Given the description of an element on the screen output the (x, y) to click on. 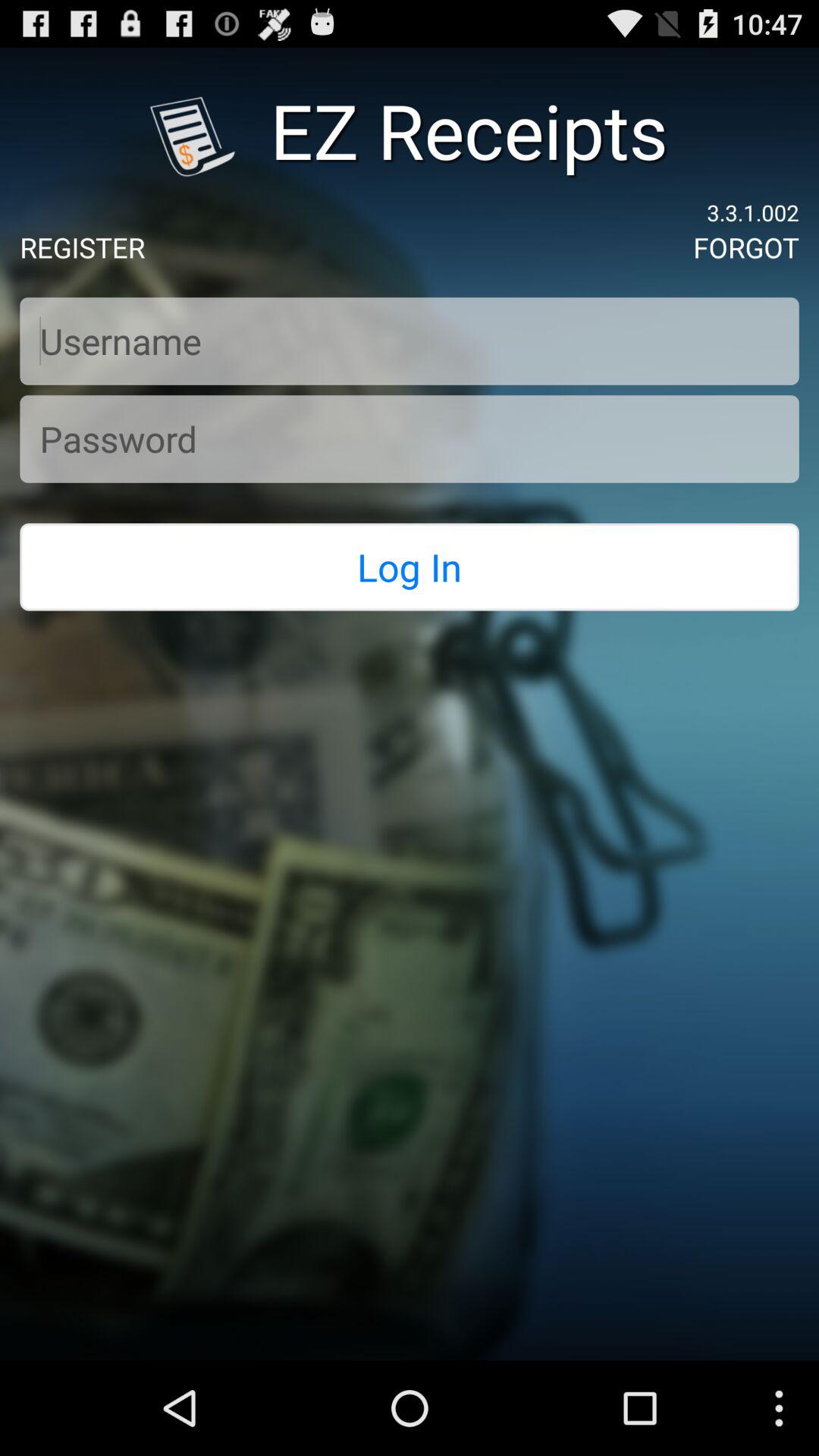
text box to fill in username (409, 341)
